Given the description of an element on the screen output the (x, y) to click on. 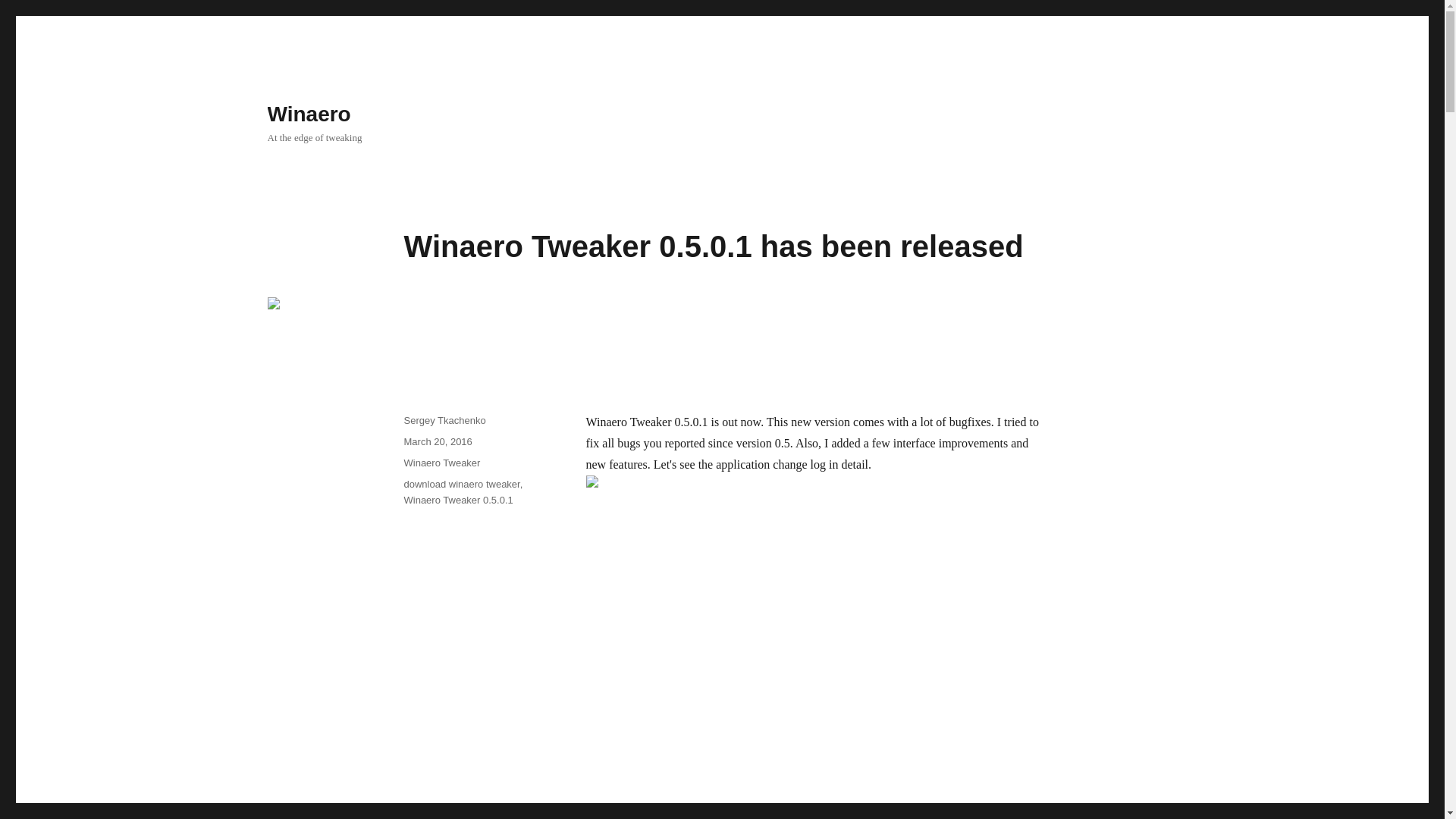
Sergey Tkachenko (443, 419)
March 20, 2016 (437, 441)
Winaero (308, 114)
download winaero tweaker (461, 483)
Winaero Tweaker 0.5.0.1 (457, 500)
Winaero Tweaker (441, 462)
